Given the description of an element on the screen output the (x, y) to click on. 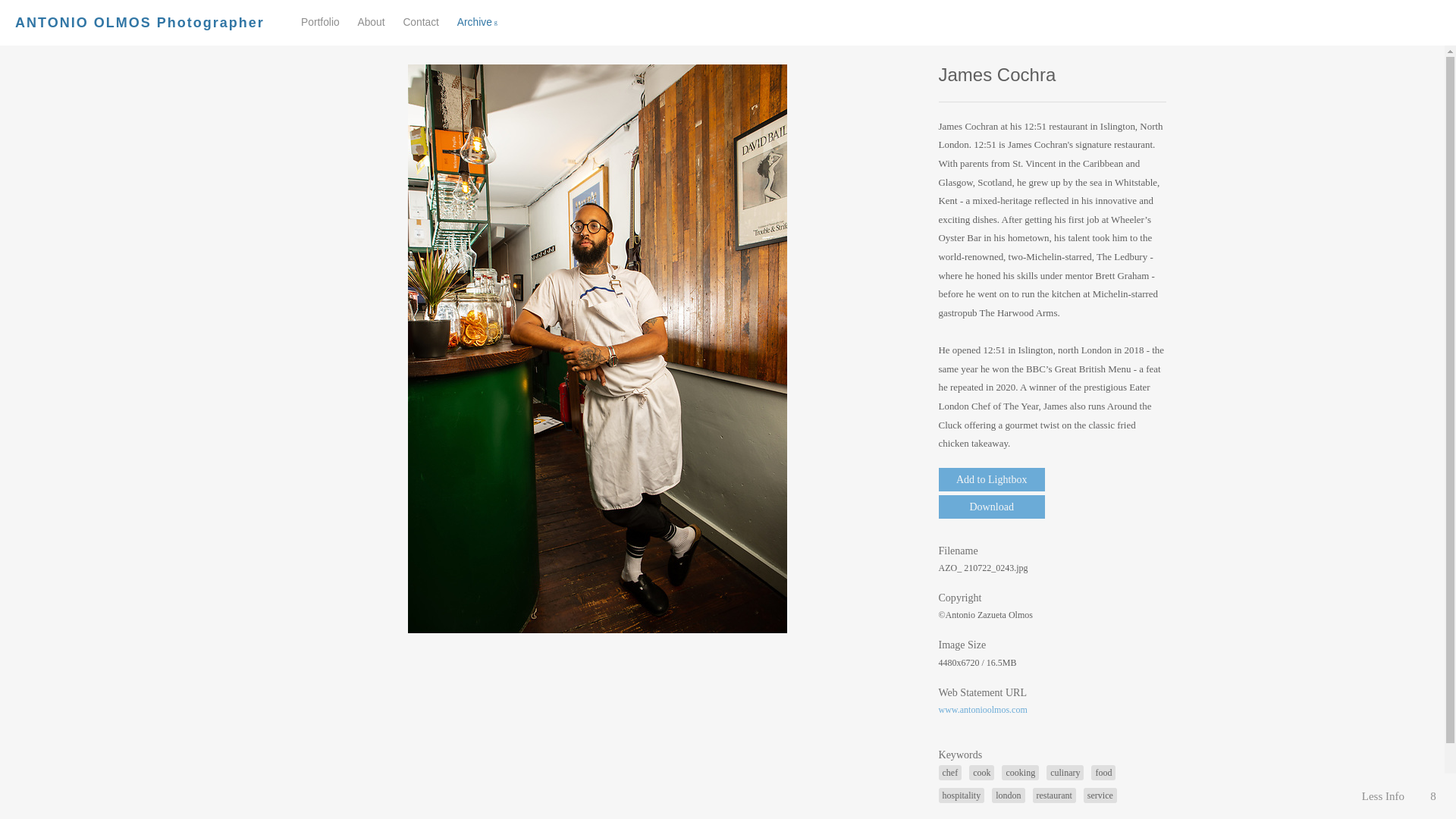
cook (981, 772)
london (1008, 795)
Portfolio About Contact Archive (406, 23)
Add to Lightbox (992, 479)
ANTONIO OLMOS Photographer (139, 22)
Download (992, 506)
hospitality (962, 795)
service (1099, 795)
www.antonioolmos.com (983, 709)
food (1102, 772)
cooking (1020, 772)
About (370, 21)
Contact (421, 21)
chef (950, 772)
Portfolio (320, 21)
